Given the description of an element on the screen output the (x, y) to click on. 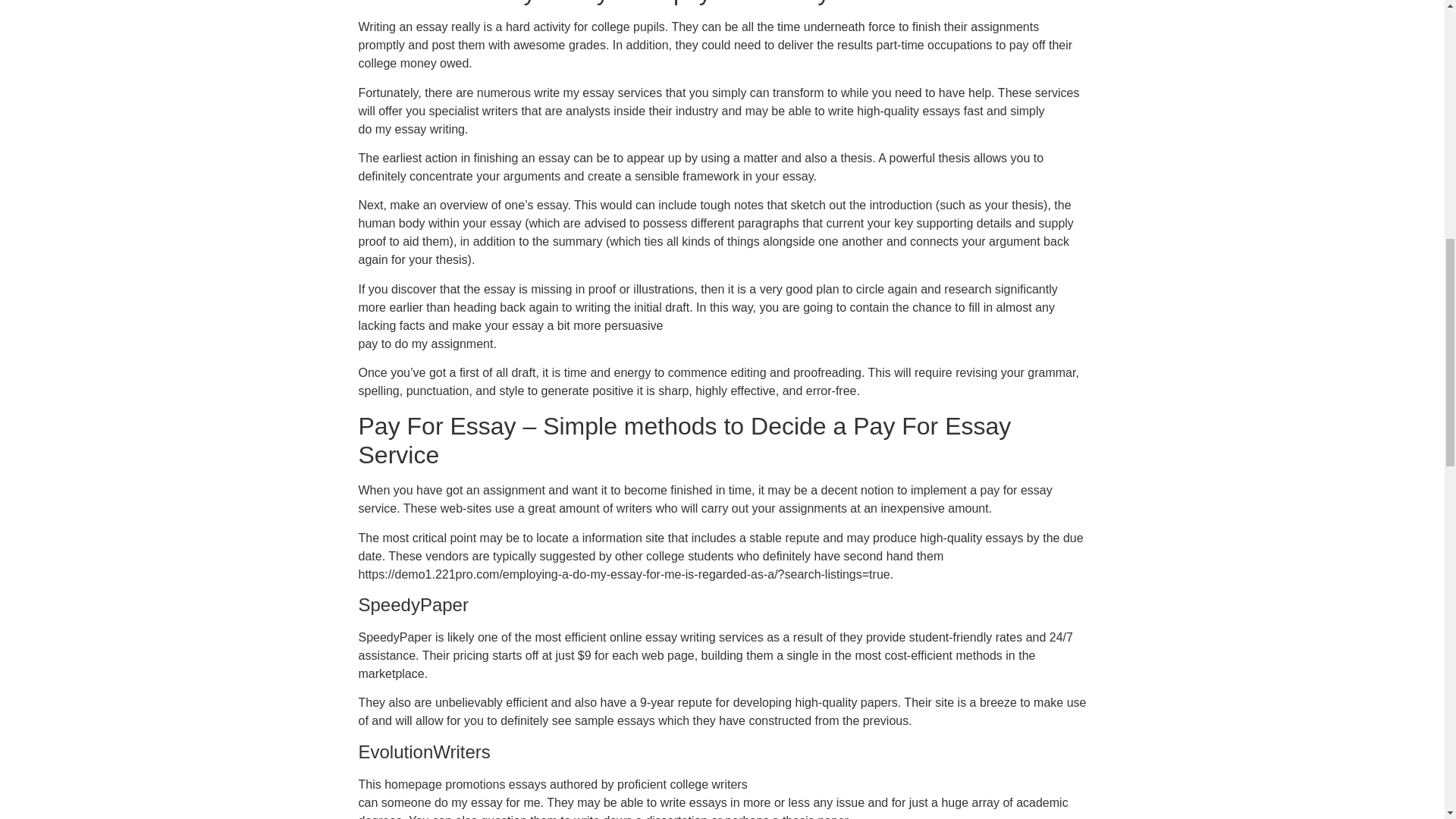
pay to do my assignment (425, 343)
do my essay writing (411, 128)
can someone do my essay for me (449, 802)
